Given the description of an element on the screen output the (x, y) to click on. 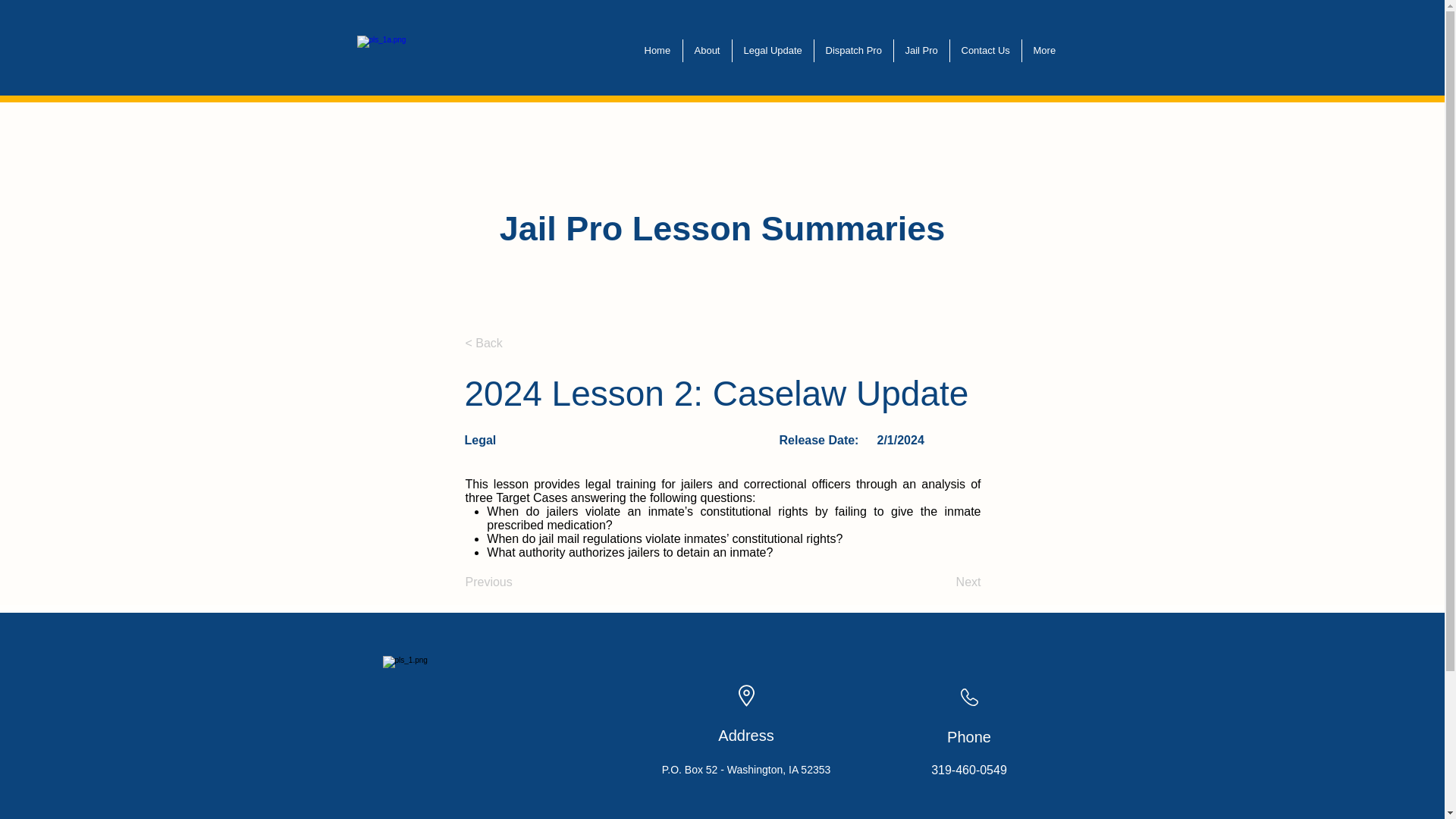
Contact Us (984, 50)
Previous (515, 582)
Legal Update (772, 50)
Home (656, 50)
About (706, 50)
Next (943, 582)
Dispatch Pro (853, 50)
Jail Pro (921, 50)
